Given the description of an element on the screen output the (x, y) to click on. 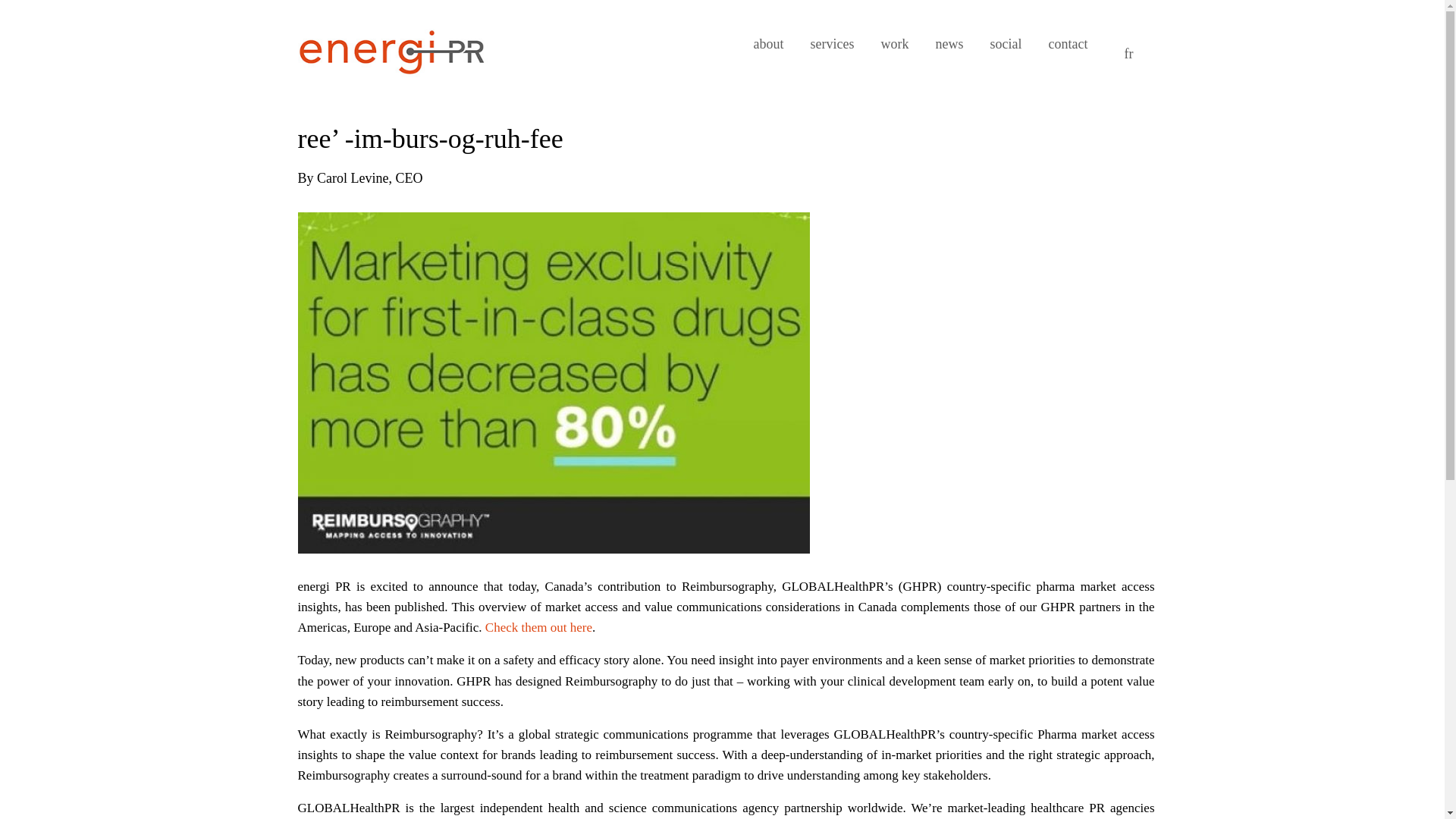
services (832, 44)
about (769, 44)
fr (1128, 53)
news (949, 44)
work (894, 44)
social (1006, 44)
contact (1067, 44)
Check them out here (538, 626)
